Given the description of an element on the screen output the (x, y) to click on. 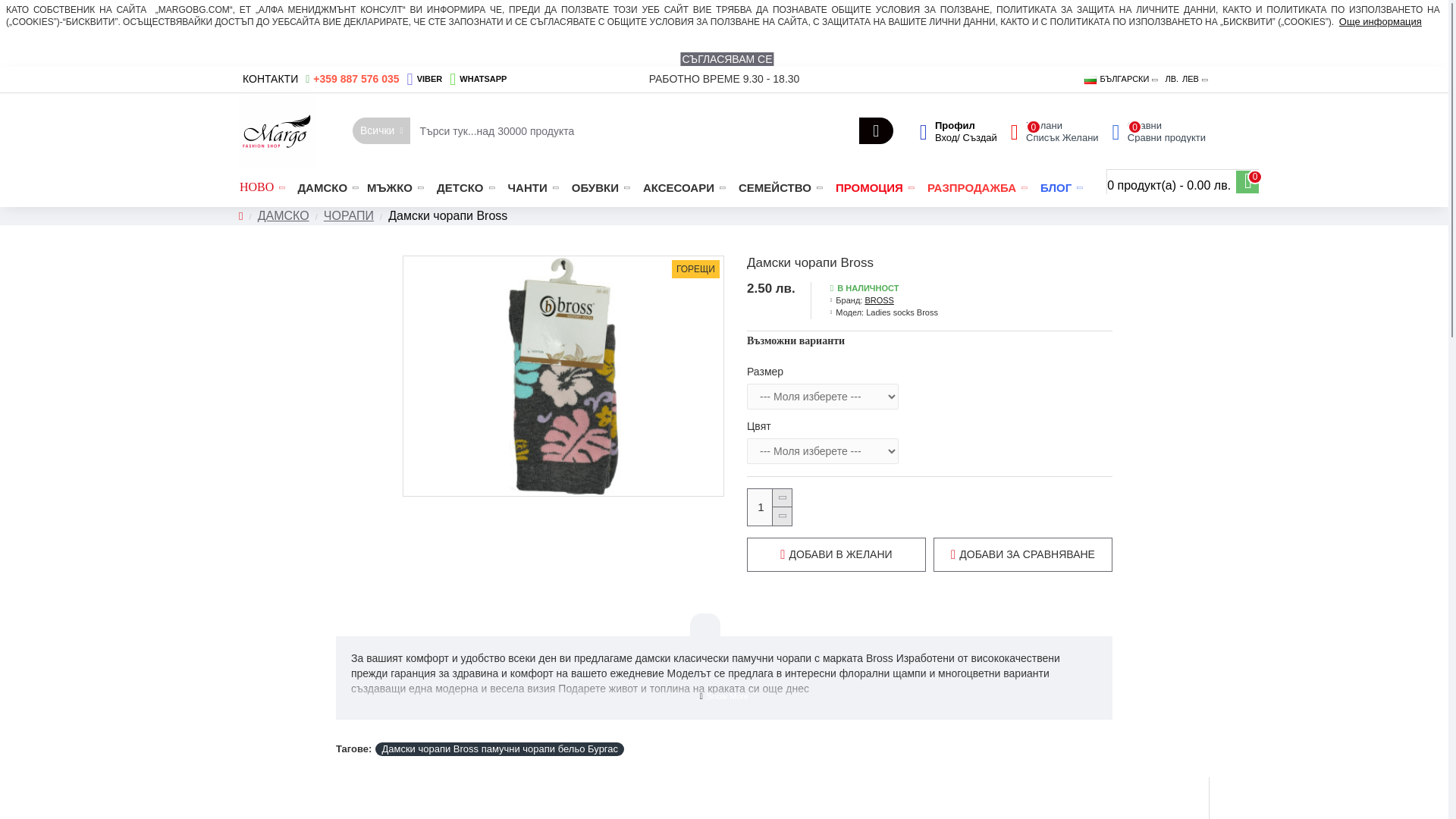
1 (770, 506)
Fashion Shop Margobgcom (276, 130)
VIBER (424, 79)
WHATSAPP (478, 79)
